Given the description of an element on the screen output the (x, y) to click on. 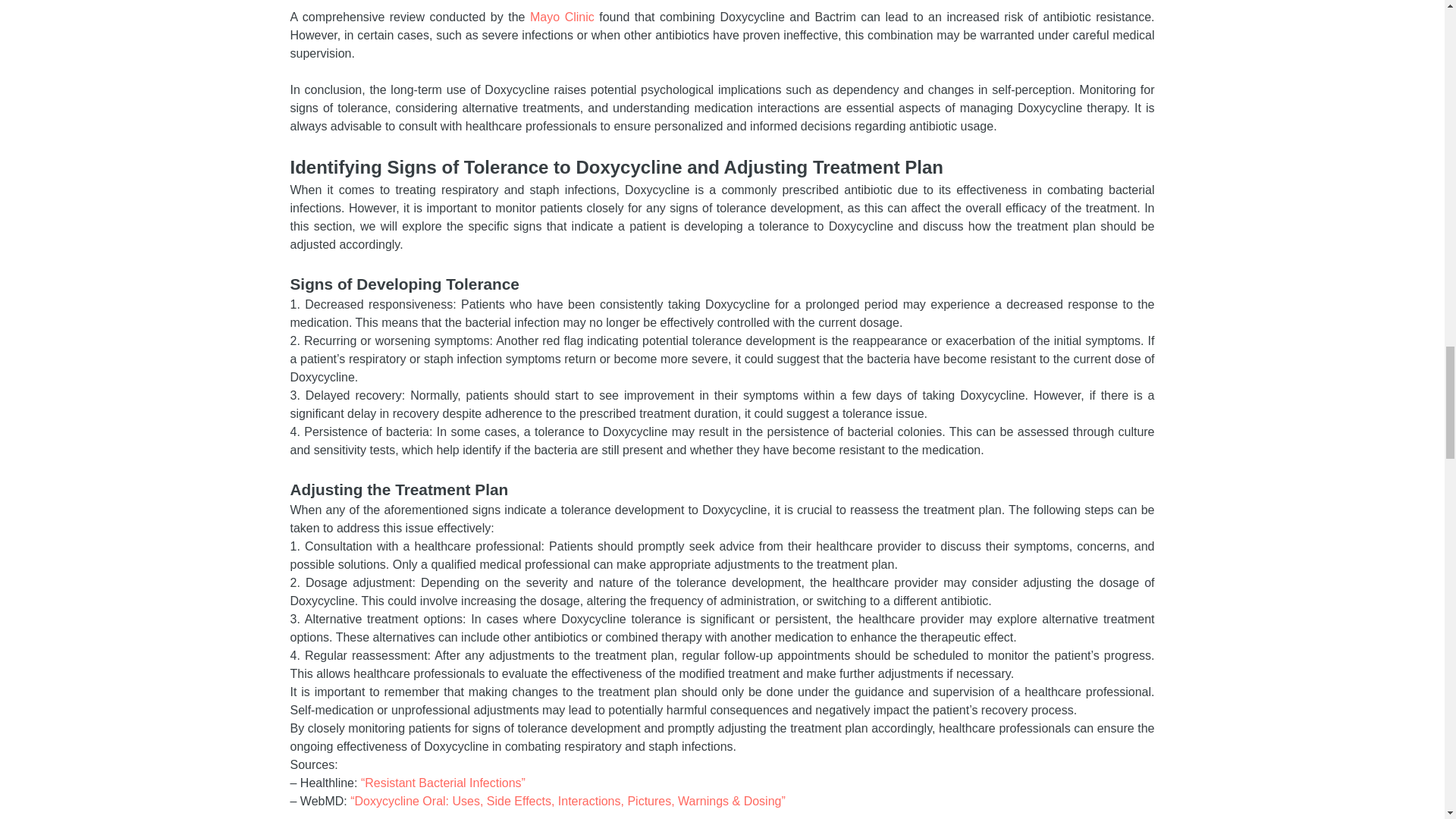
Mayo Clinic (561, 16)
